Given the description of an element on the screen output the (x, y) to click on. 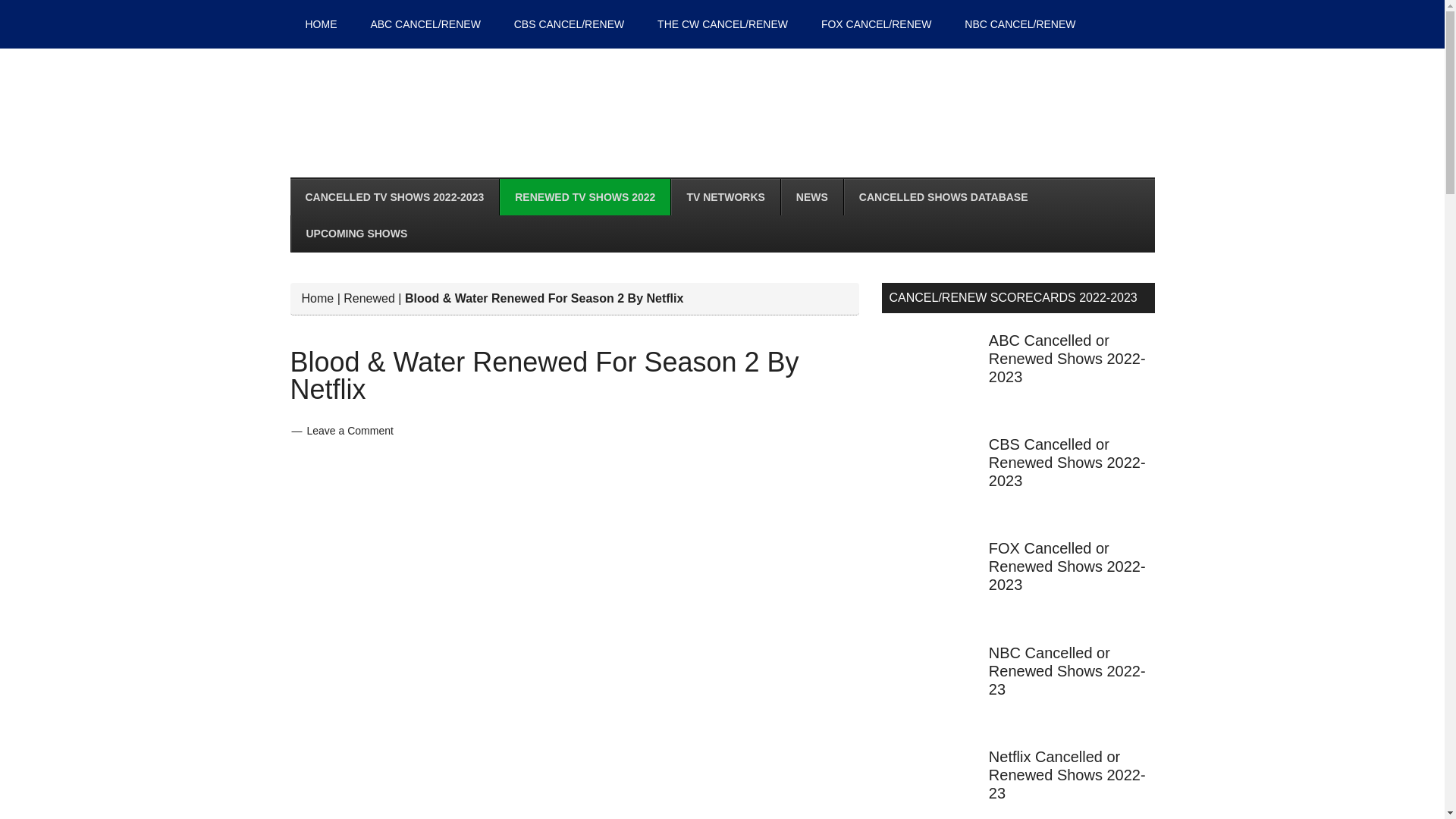
CANCELLED TV SHOWS 2022-2023 (394, 197)
Renewed (368, 297)
Home (317, 297)
Leave a Comment (349, 430)
CBS Cancelled or Renewed Shows 2022-2023 (1066, 461)
ABC Cancelled or Renewed Shows 2022-2023 (1066, 358)
NEWS (811, 197)
UPCOMING SHOWS (355, 233)
TV NETWORKS (723, 197)
